Given the description of an element on the screen output the (x, y) to click on. 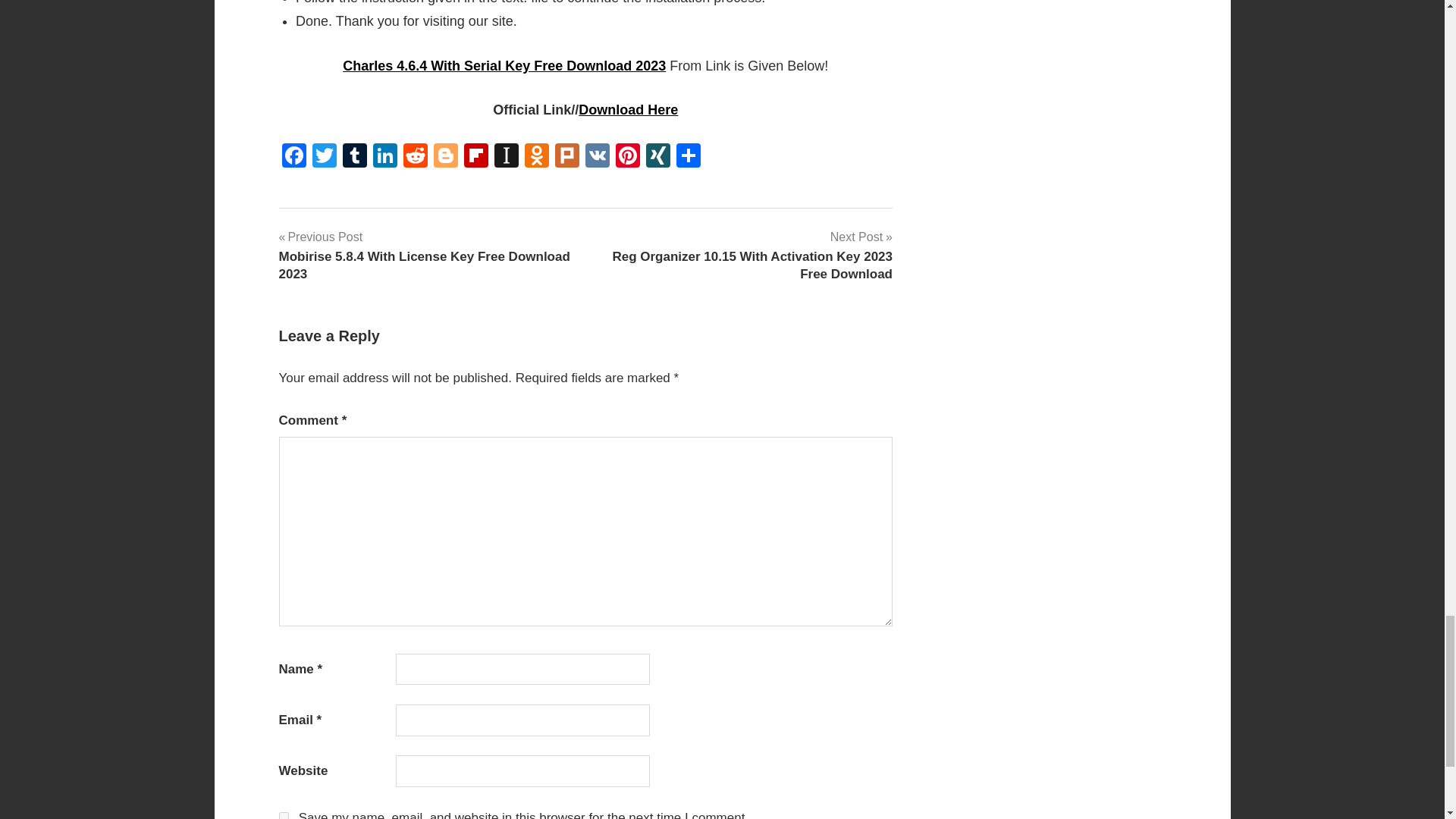
Charles 4.6.4 With Serial Key Free Download 2023 (503, 65)
yes (283, 815)
Reddit (415, 157)
Tumblr (354, 157)
Flipboard (476, 157)
XING (657, 157)
Tumblr (354, 157)
Twitter (323, 157)
Blogger (445, 157)
Facebook (293, 157)
